Given the description of an element on the screen output the (x, y) to click on. 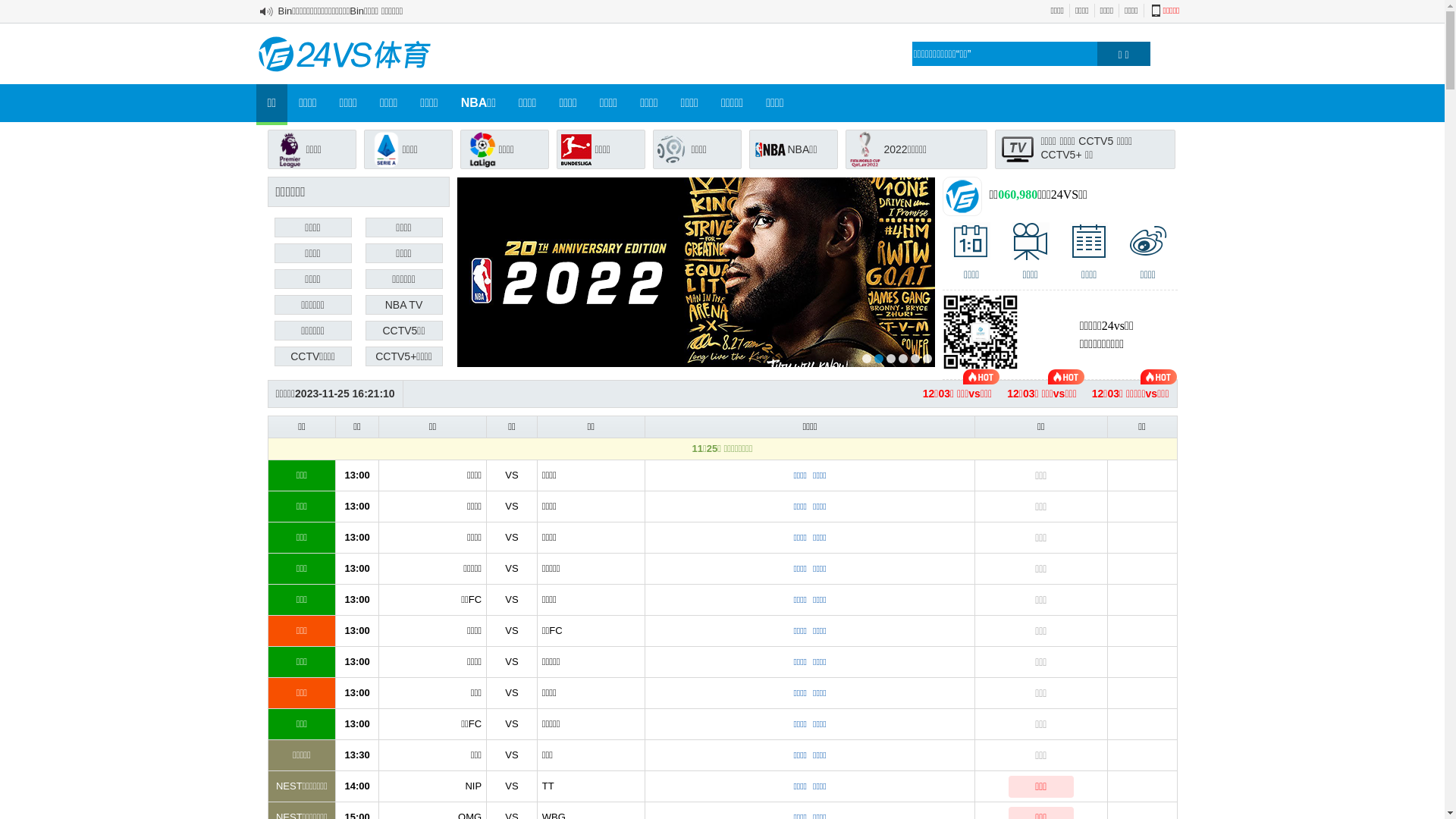
CCTV5 Element type: text (1095, 140)
CCTV5+ Element type: text (1060, 154)
VS Element type: text (511, 754)
VS Element type: text (511, 692)
NBA TV Element type: text (403, 304)
TT Element type: text (548, 785)
VS Element type: text (511, 661)
NIP Element type: text (472, 785)
VS Element type: text (511, 599)
VS Element type: text (511, 474)
VS Element type: text (511, 785)
VS Element type: text (511, 536)
VS Element type: text (511, 630)
VS Element type: text (511, 505)
VS Element type: text (511, 568)
VS Element type: text (511, 723)
